Given the description of an element on the screen output the (x, y) to click on. 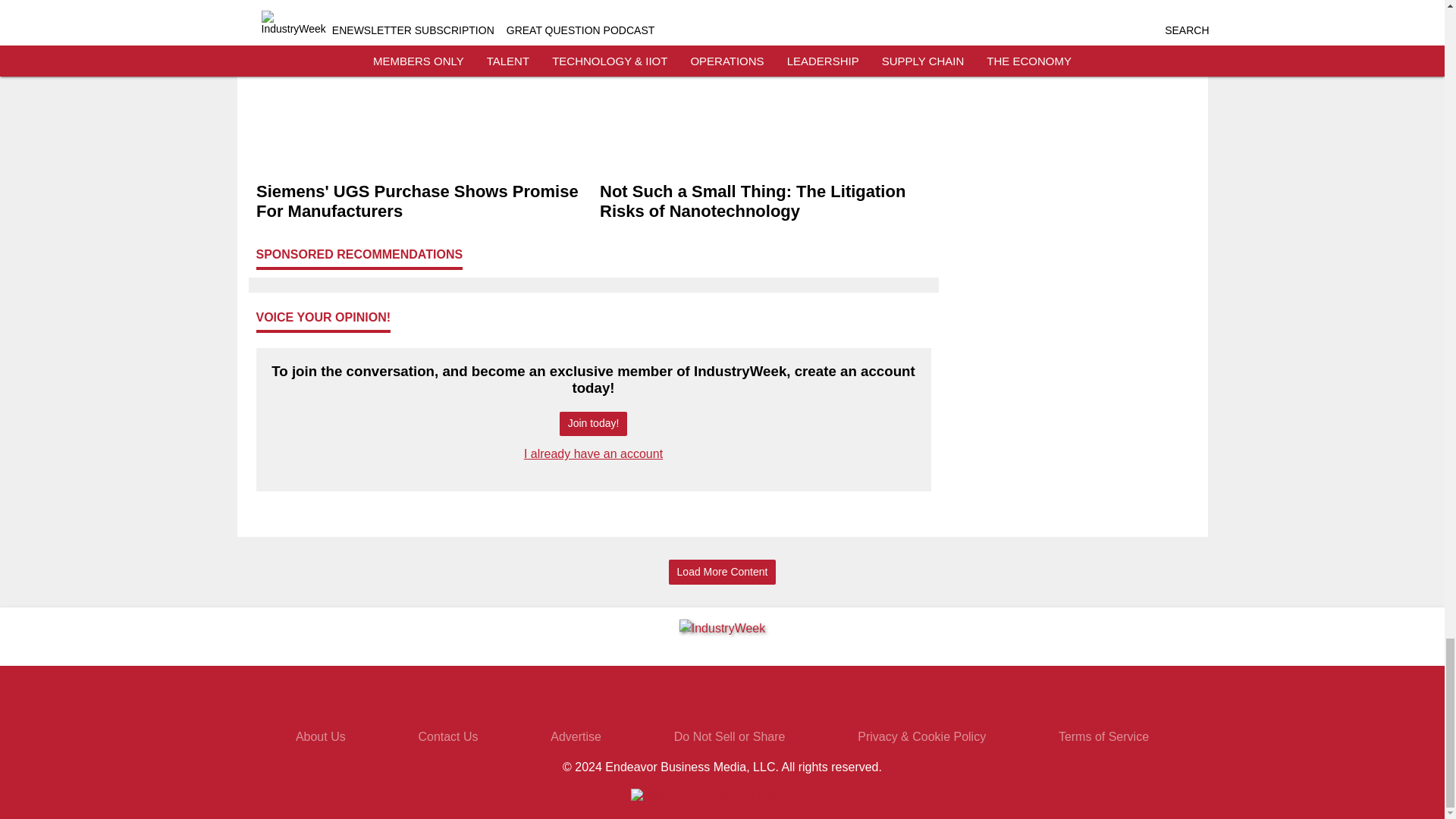
Siemens' UGS Purchase Shows Promise For Manufacturers (422, 201)
Join today! (593, 423)
I already have an account (593, 453)
